Given the description of an element on the screen output the (x, y) to click on. 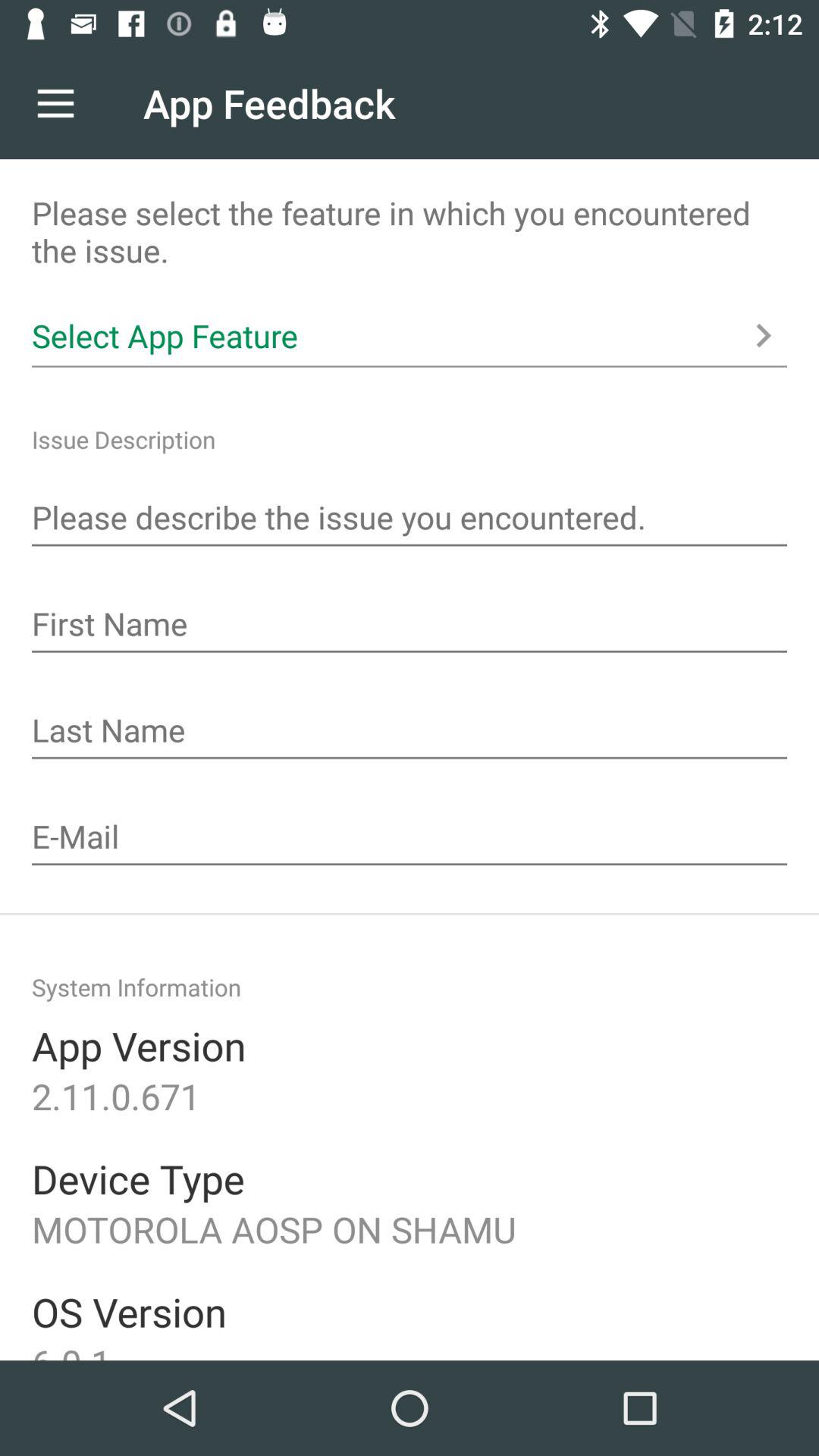
the place to enter in your email for a delivery sight (409, 838)
